Given the description of an element on the screen output the (x, y) to click on. 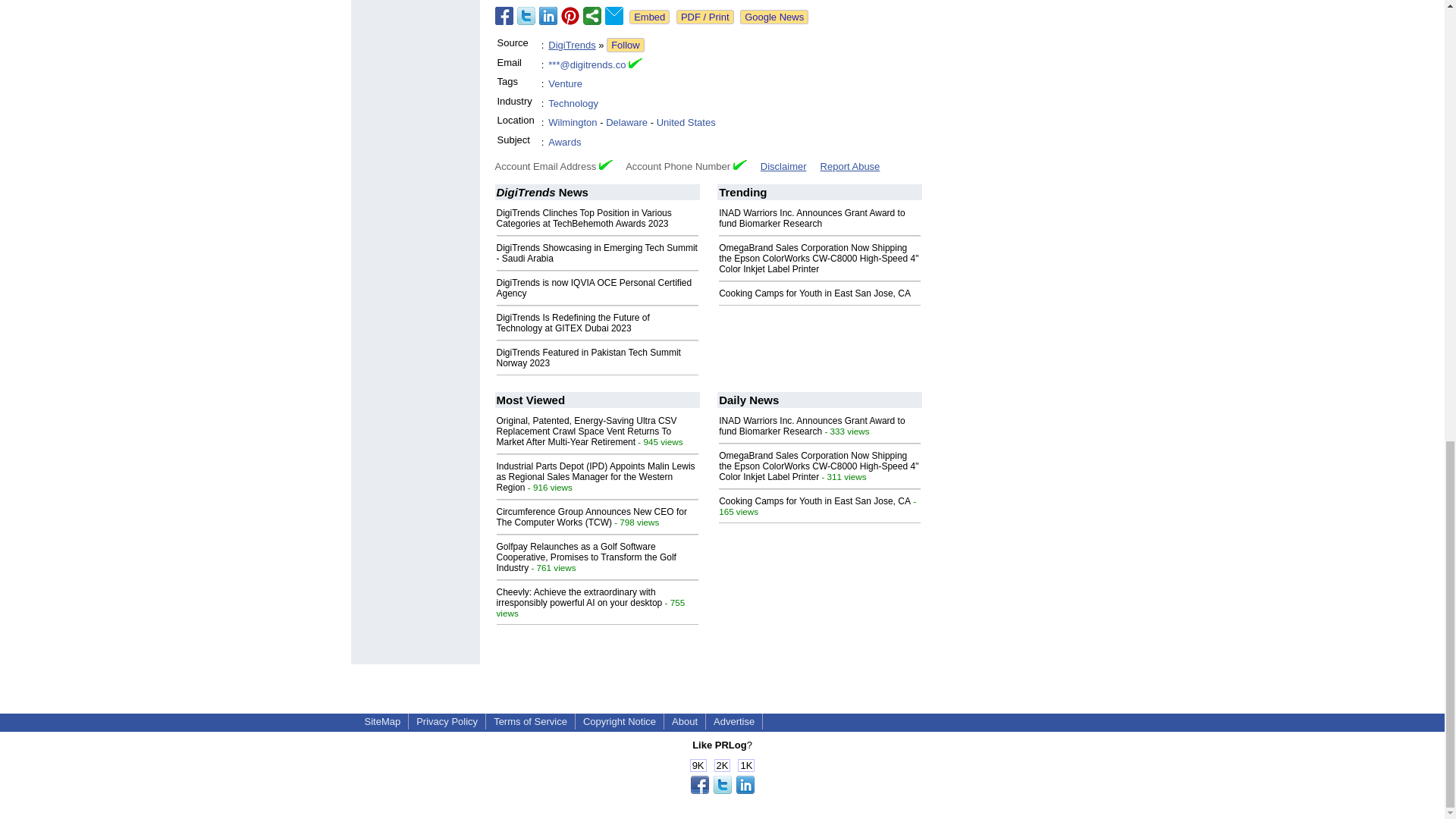
Embed this press release in your website! (648, 16)
Email Verified (635, 64)
Share this page! (722, 790)
Email to a Friend (614, 15)
Verified (739, 164)
Share on StumbleUpon, Digg, etc (590, 15)
Share on Pinterest (569, 15)
Share on Twitter (525, 15)
Embed (648, 16)
Share on Facebook (503, 15)
See or print the PDF version! (705, 16)
Share on LinkedIn (547, 15)
Verified (605, 164)
